Given the description of an element on the screen output the (x, y) to click on. 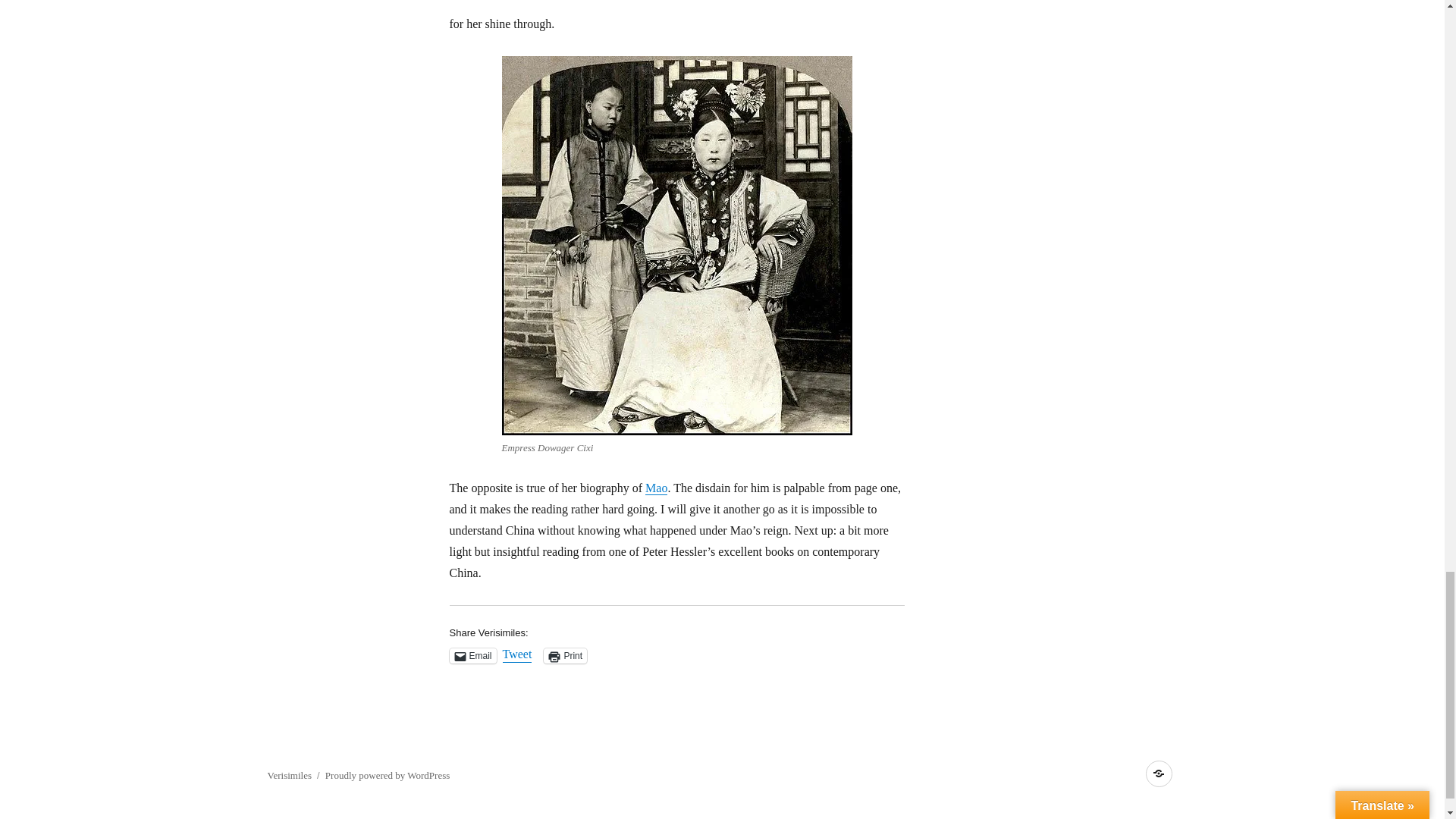
Click to email a link to a friend (472, 655)
Mao (655, 487)
Email (472, 655)
Print (564, 655)
About (1158, 773)
Tweet (517, 654)
Proudly powered by WordPress (386, 775)
Verisimiles (288, 775)
Click to print (564, 655)
